Given the description of an element on the screen output the (x, y) to click on. 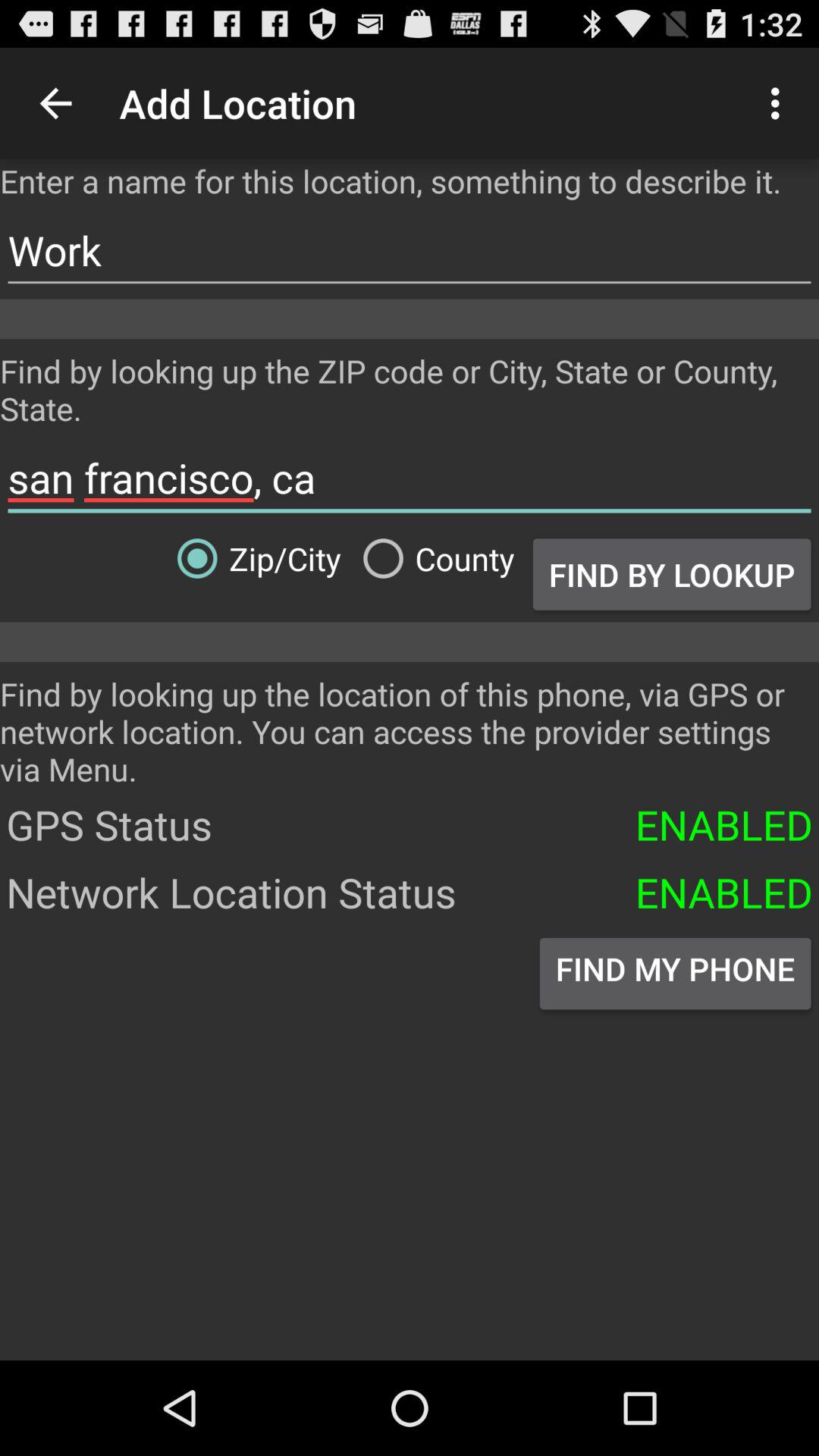
open the icon to the right of add location icon (779, 103)
